Given the description of an element on the screen output the (x, y) to click on. 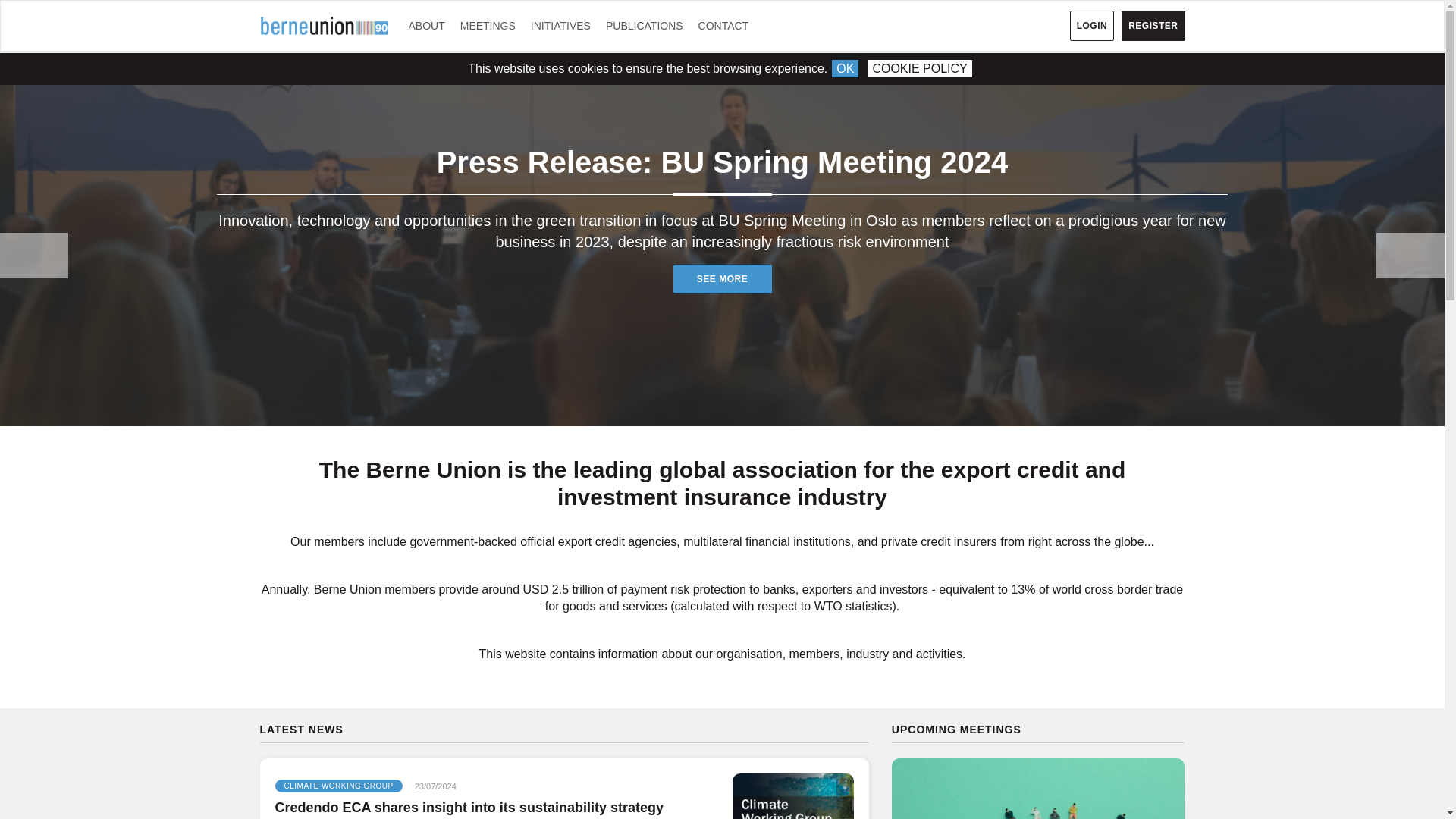
COOKIE POLICY (919, 67)
Credendo ECA shares insight into its sustainability strategy (792, 796)
OK (845, 67)
